Given the description of an element on the screen output the (x, y) to click on. 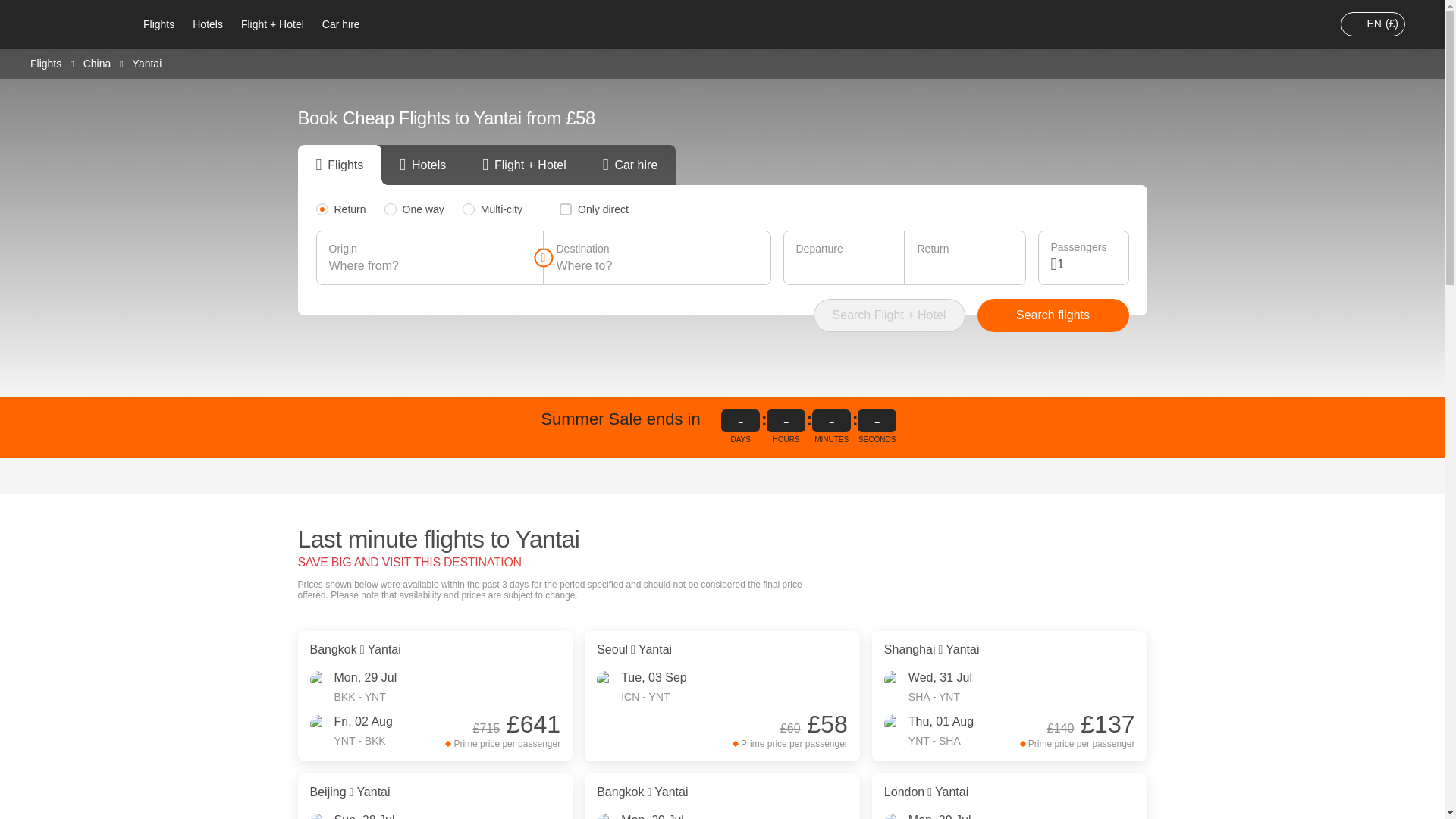
Hotels (207, 24)
China (97, 62)
Yantai (146, 63)
Search flights (1052, 315)
1 (1086, 263)
Car hire (341, 24)
Flights (45, 62)
Flights (158, 24)
